Given the description of an element on the screen output the (x, y) to click on. 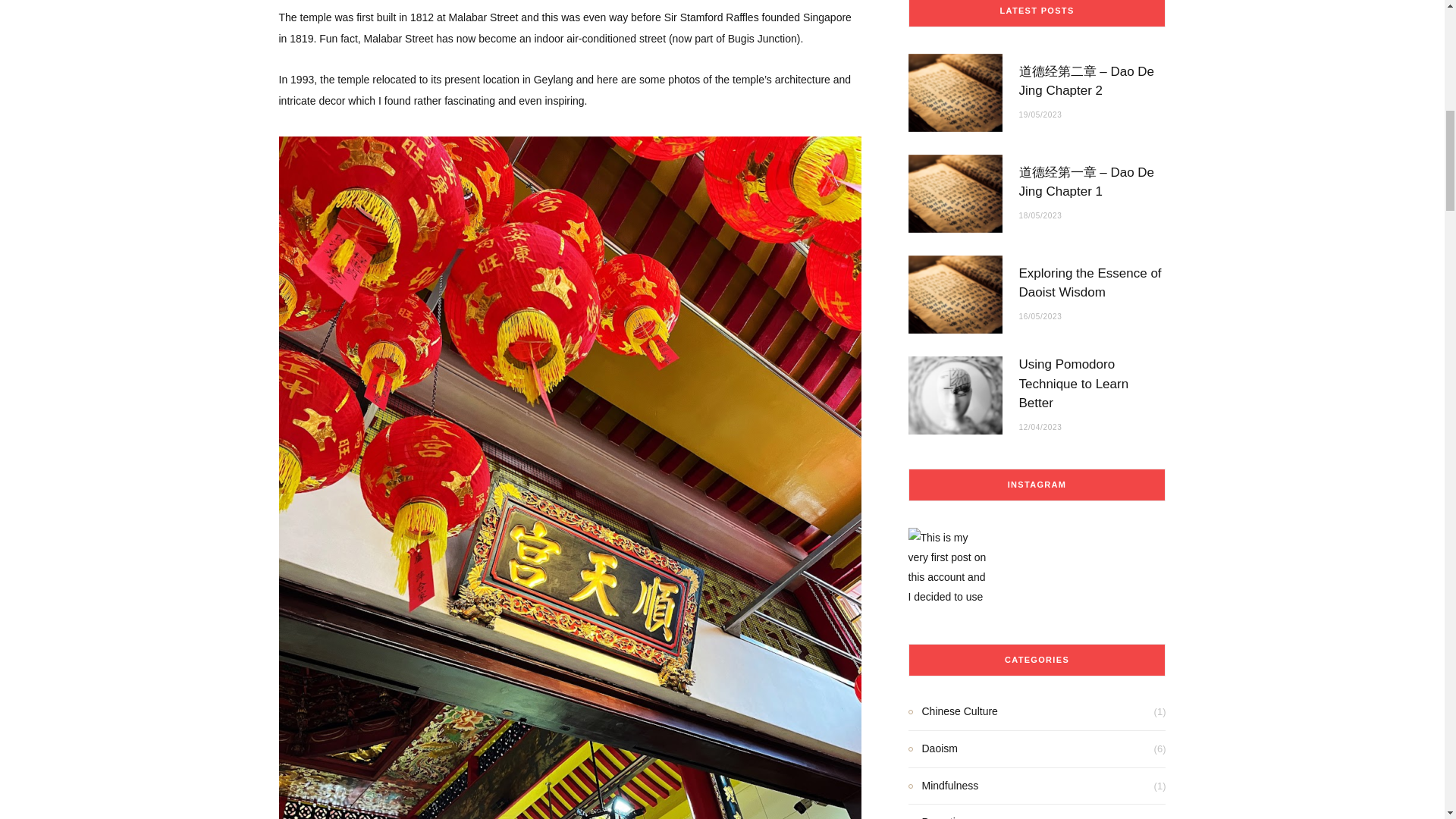
Using Pomodoro Technique to Learn Better (955, 395)
Exploring the Essence of Daoist Wisdom (955, 294)
